Given the description of an element on the screen output the (x, y) to click on. 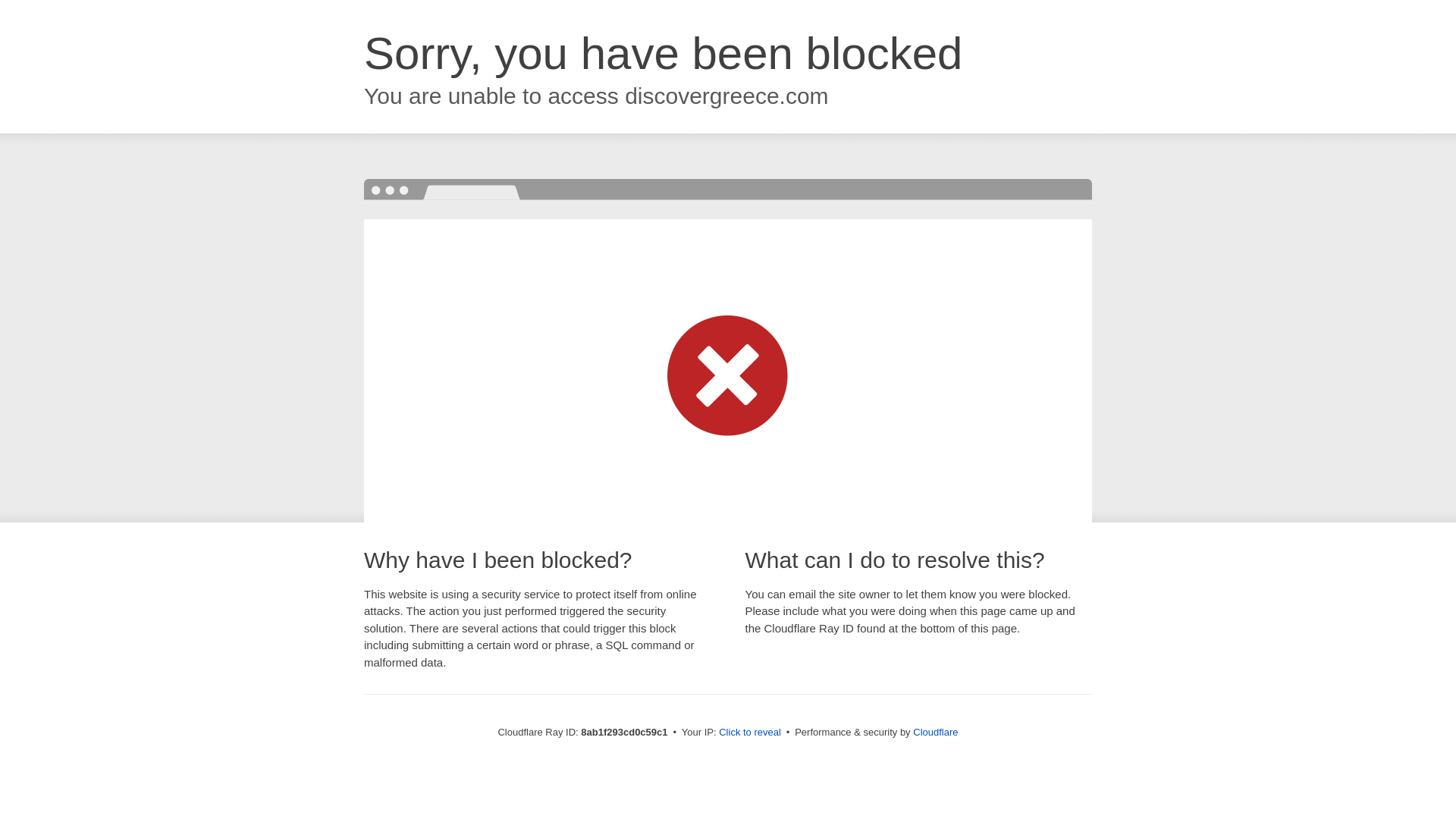
Click to reveal (749, 732)
Cloudflare (935, 731)
